Given the description of an element on the screen output the (x, y) to click on. 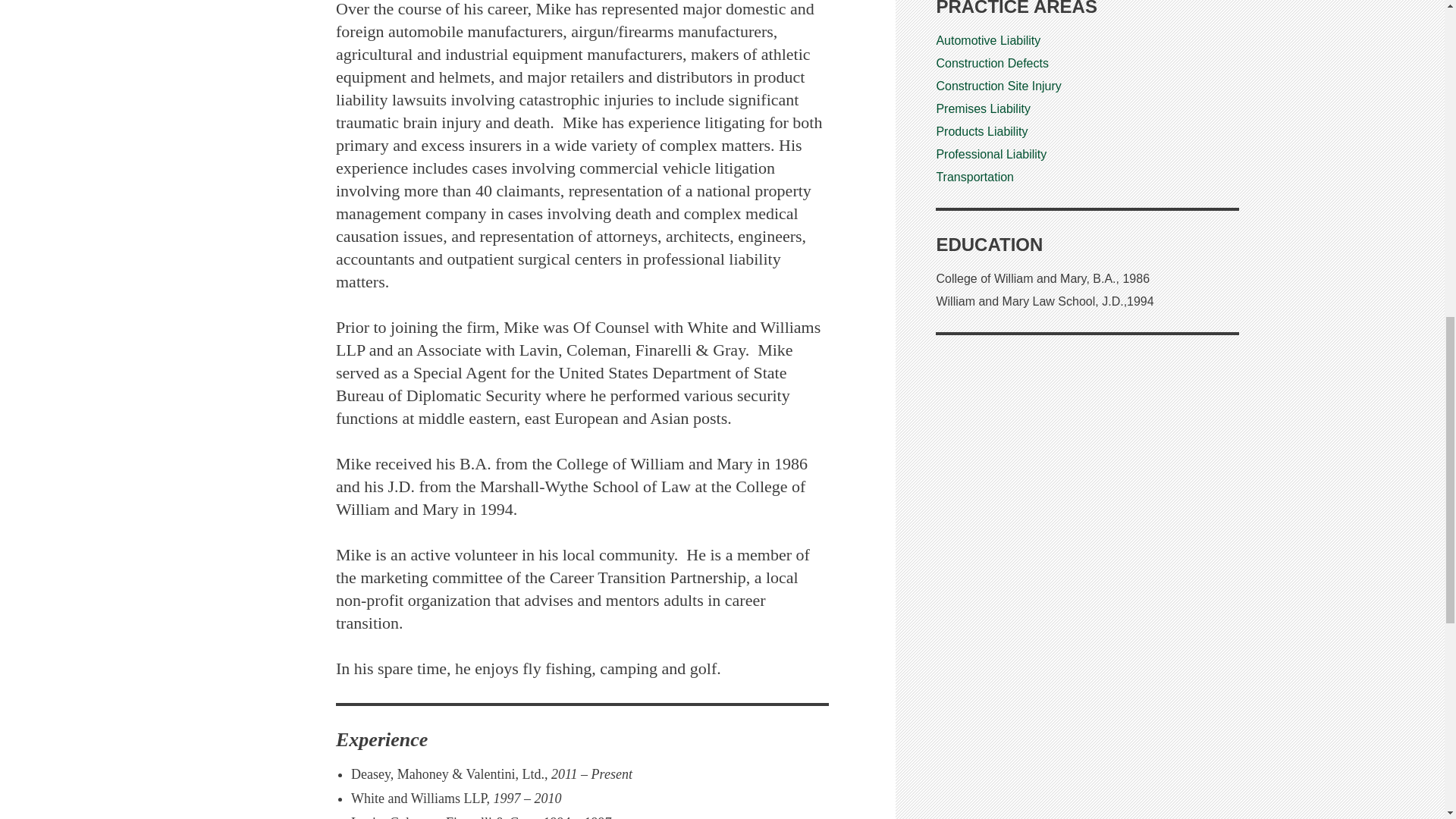
Deasey Mahoney Valentini Practice Area - Products Liability (981, 131)
Deasey Mahoney Valentini Practice Area - Premises Liability (982, 108)
Deasey Mahoney Valentini Practice Area - Transportation (974, 176)
